Given the description of an element on the screen output the (x, y) to click on. 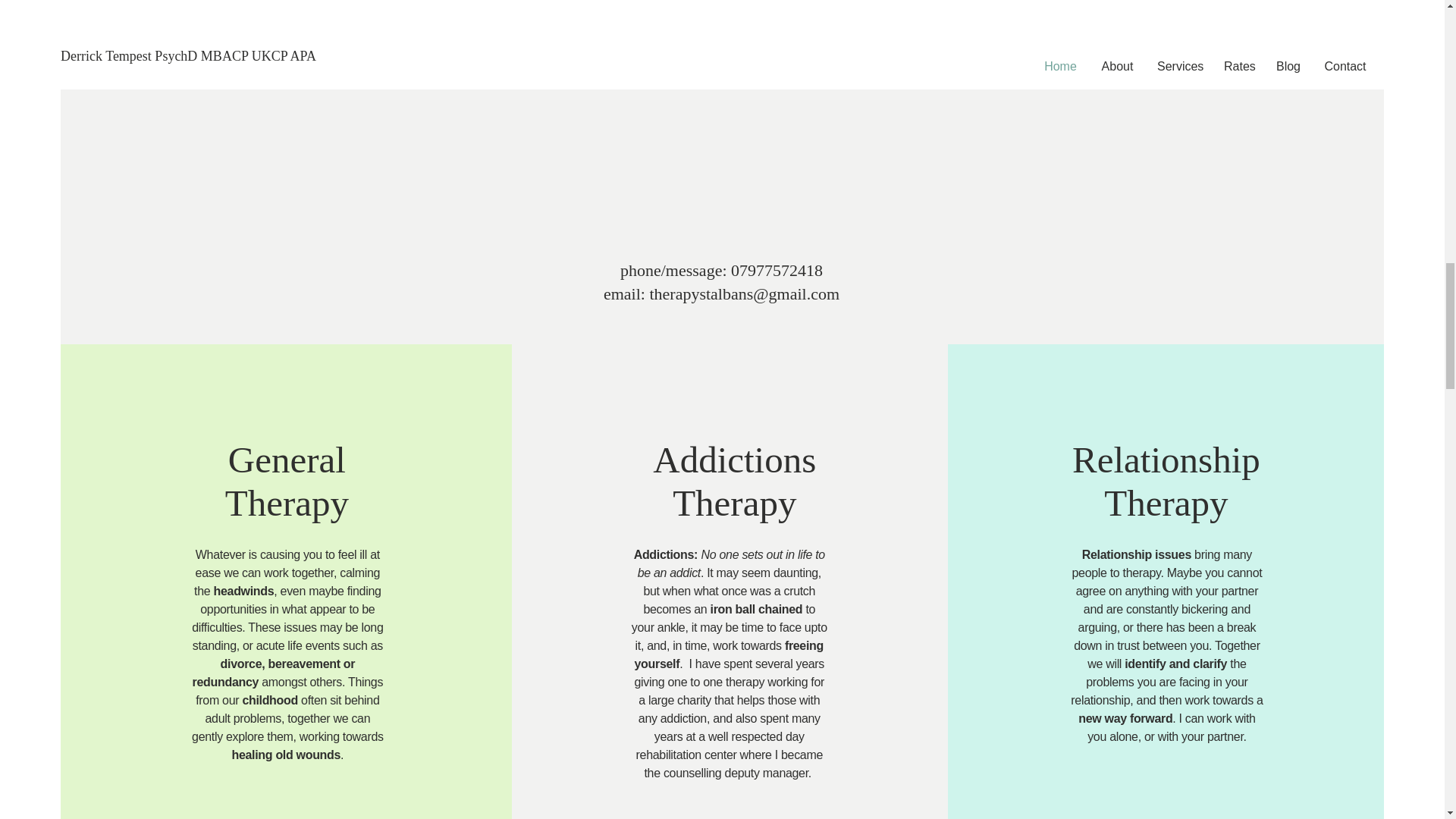
General Therapy (287, 481)
Addictions Therapy (1165, 481)
